Given the description of an element on the screen output the (x, y) to click on. 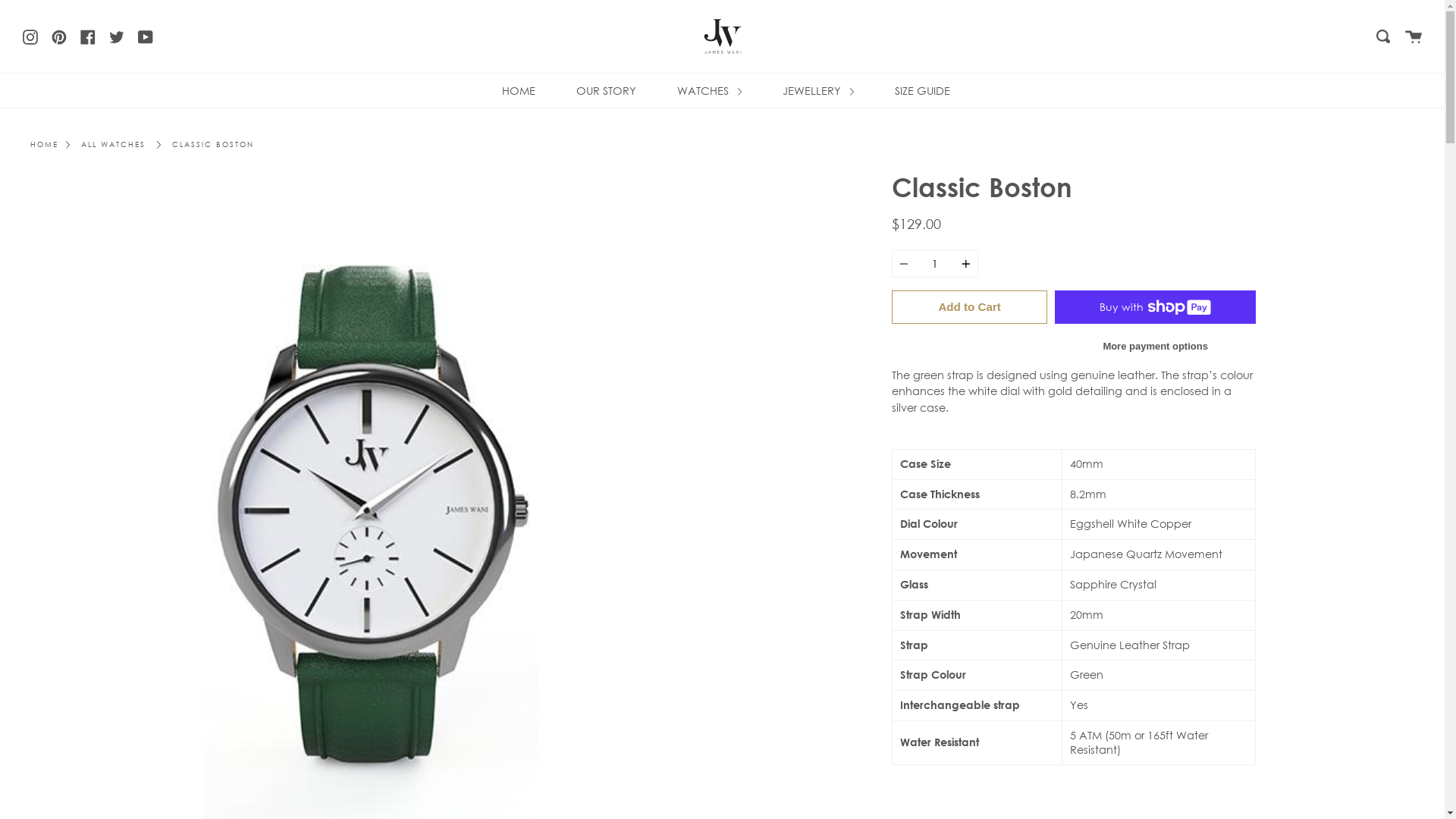
Cart Element type: text (1413, 36)
Facebook Element type: text (87, 35)
Search Element type: text (1383, 36)
More payment options Element type: text (1154, 346)
JEWELLERY Element type: text (817, 90)
Instagram Element type: text (29, 35)
SIZE GUIDE Element type: text (922, 90)
HOME Element type: text (44, 144)
OUR STORY Element type: text (606, 90)
WATCHES Element type: text (709, 90)
HOME Element type: text (518, 90)
Add to Cart Element type: text (969, 306)
CLASSIC BOSTON Element type: text (213, 144)
Twitter Element type: text (116, 35)
YouTube Element type: text (145, 35)
Pinterest Element type: text (58, 35)
ALL WATCHES Element type: text (113, 144)
